Given the description of an element on the screen output the (x, y) to click on. 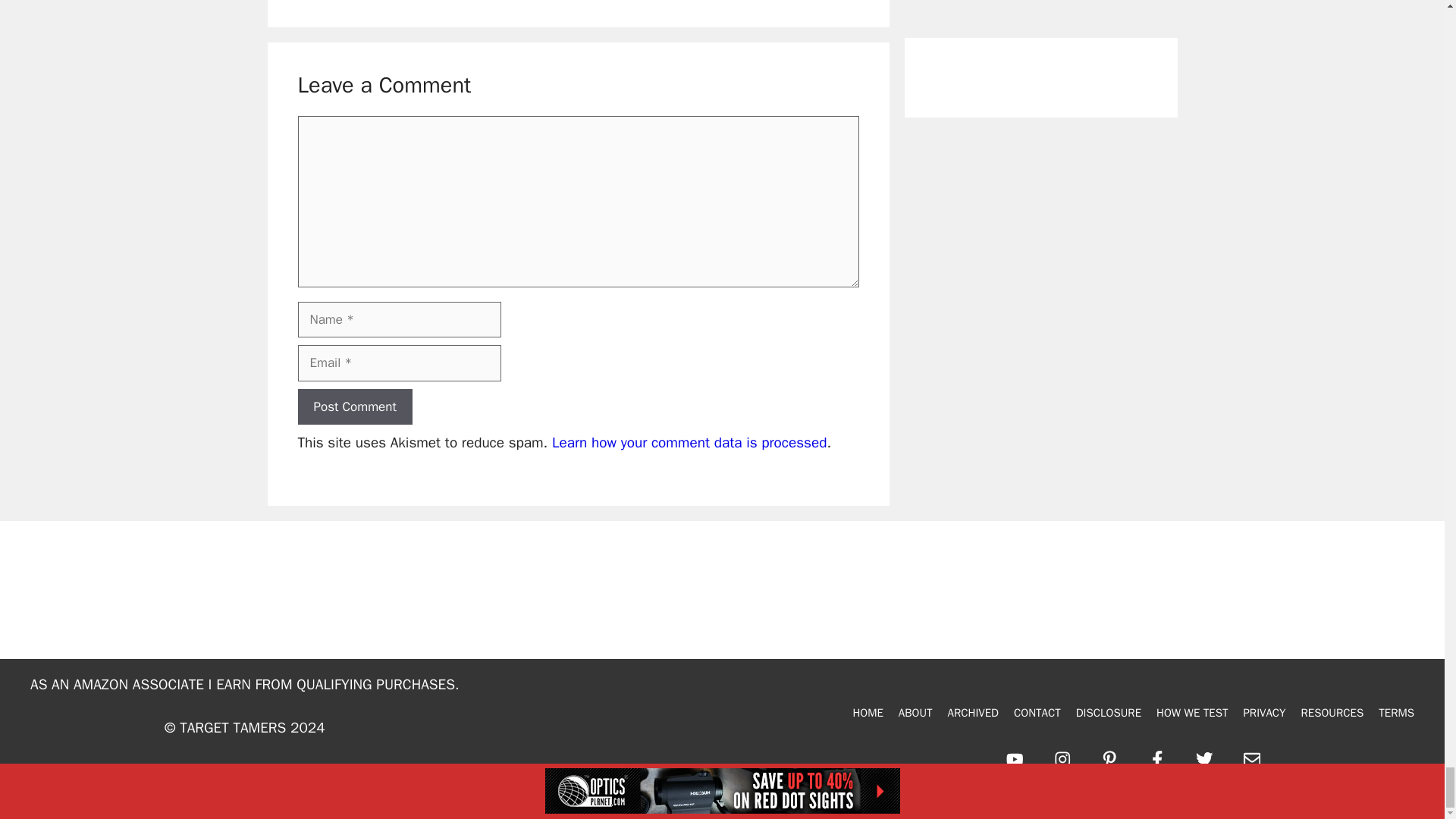
Post Comment (354, 407)
